Given the description of an element on the screen output the (x, y) to click on. 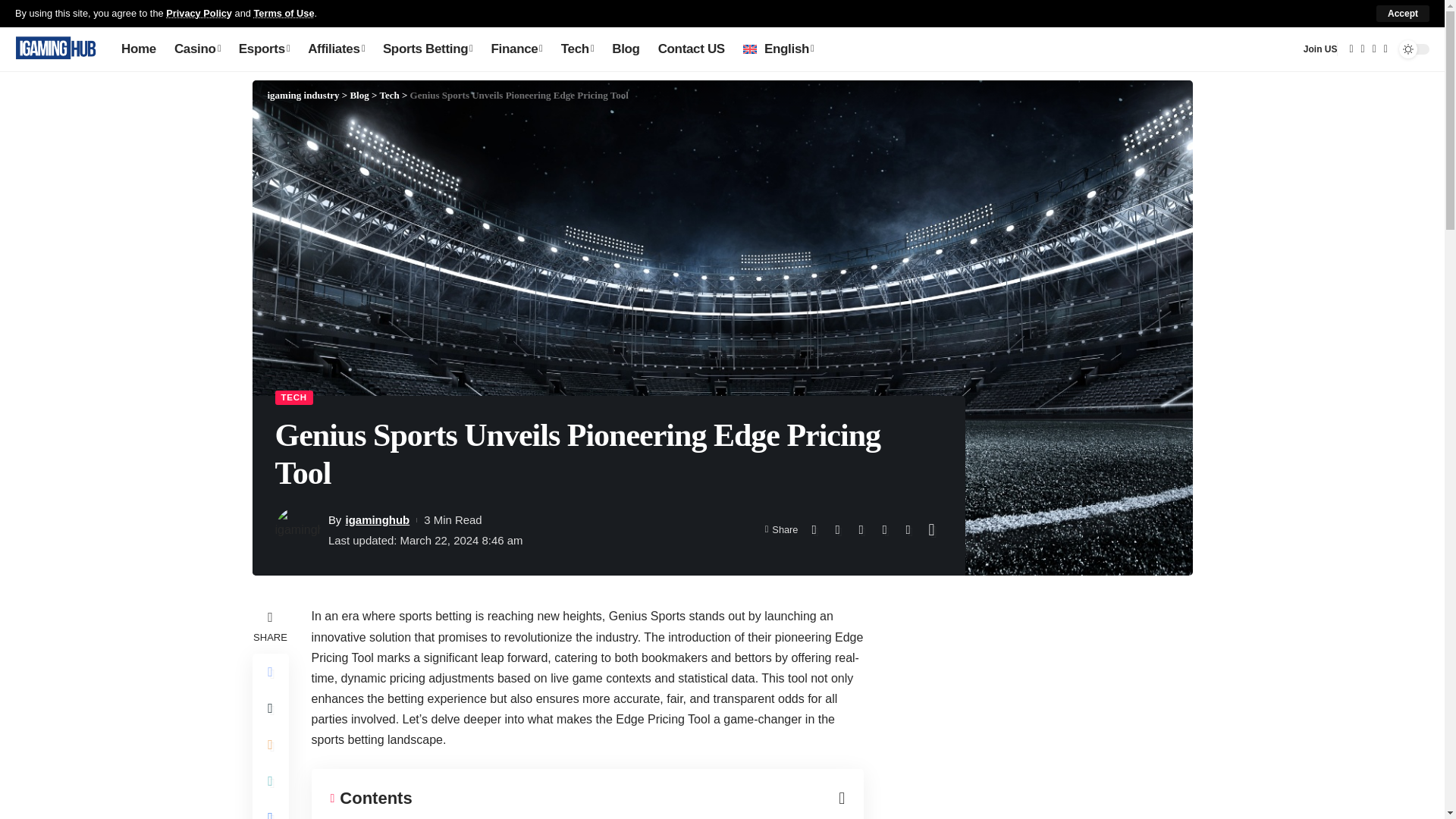
Casino (197, 49)
Privacy Policy (198, 12)
Home (138, 49)
Join US (1320, 49)
Affiliates (336, 49)
Esports (264, 49)
Accept (1402, 13)
Terms of Use (283, 12)
